Given the description of an element on the screen output the (x, y) to click on. 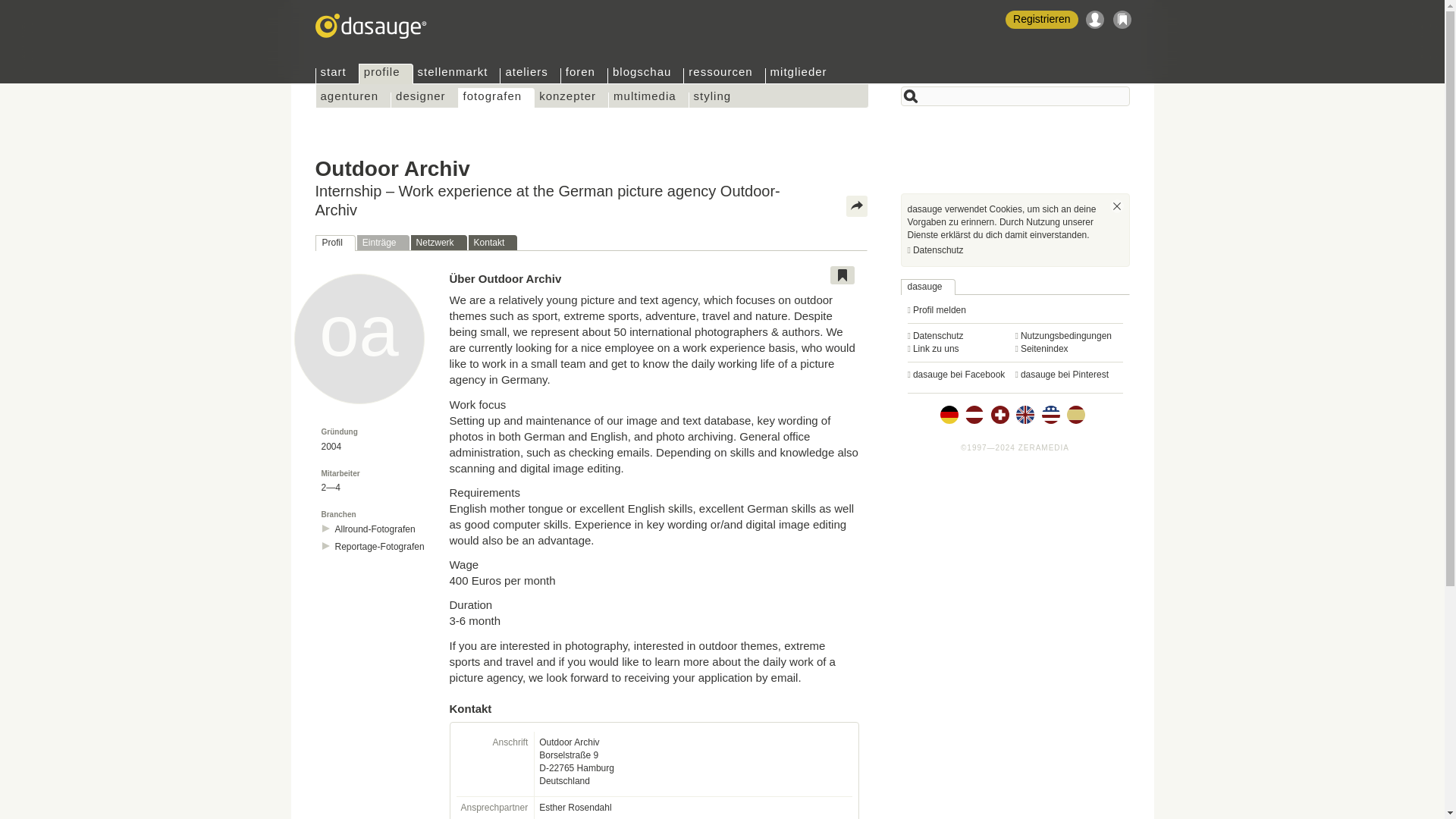
Kostenlos dasauge-Mitglied werden (1041, 19)
Fotografen: Reportage (379, 546)
ateliers (529, 75)
Merkzettel (1121, 19)
foren (583, 75)
konzepter (571, 99)
agenturen (352, 99)
fotografen (496, 97)
designer (424, 99)
ressourcen (723, 75)
stellenmarkt (456, 75)
multimedia (648, 99)
blogschau (644, 75)
profile (385, 73)
start (336, 75)
